Given the description of an element on the screen output the (x, y) to click on. 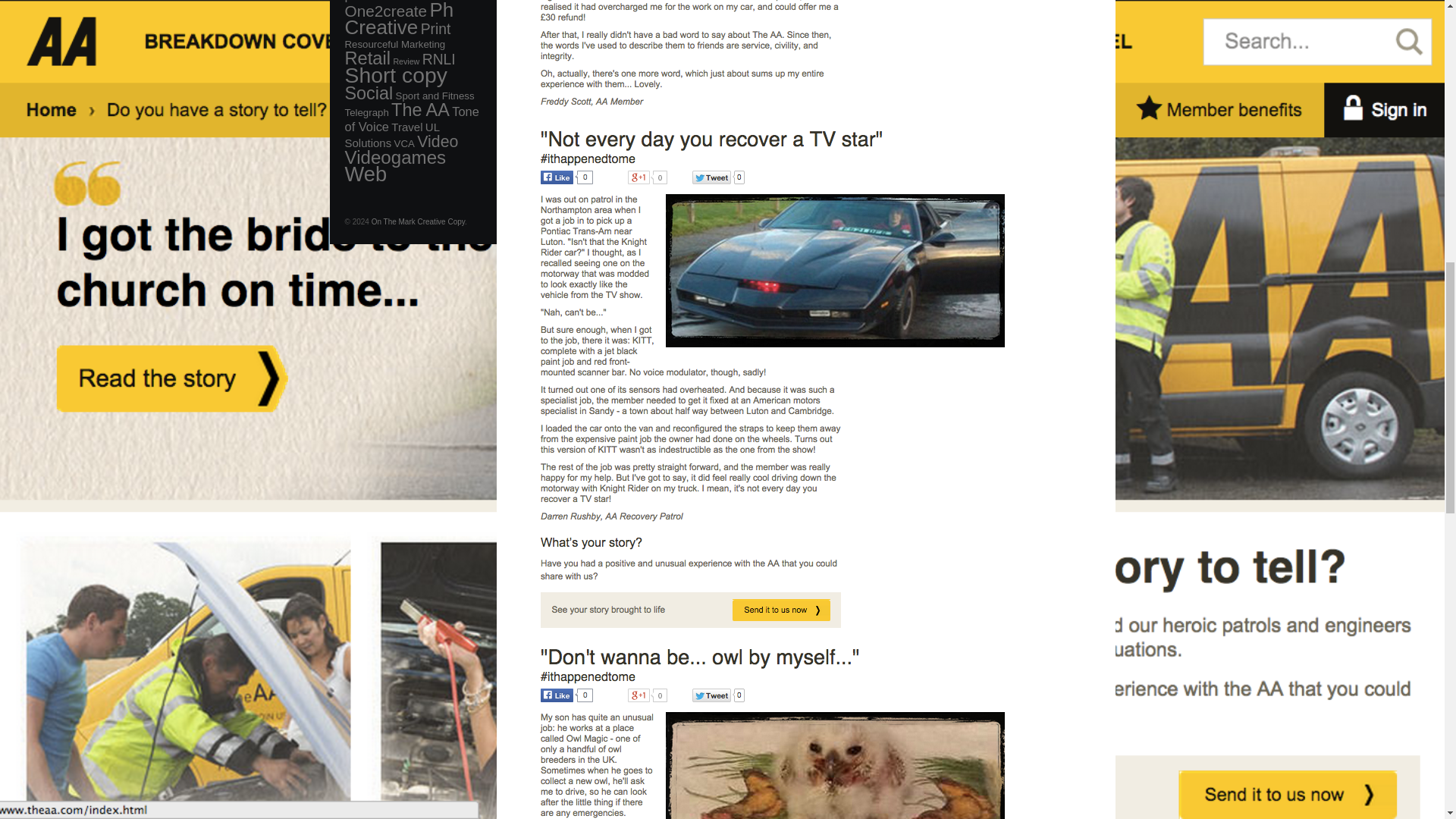
Ph Creative (397, 19)
My portfolio (397, 1)
One2create (384, 10)
NatWest (413, 0)
